Given the description of an element on the screen output the (x, y) to click on. 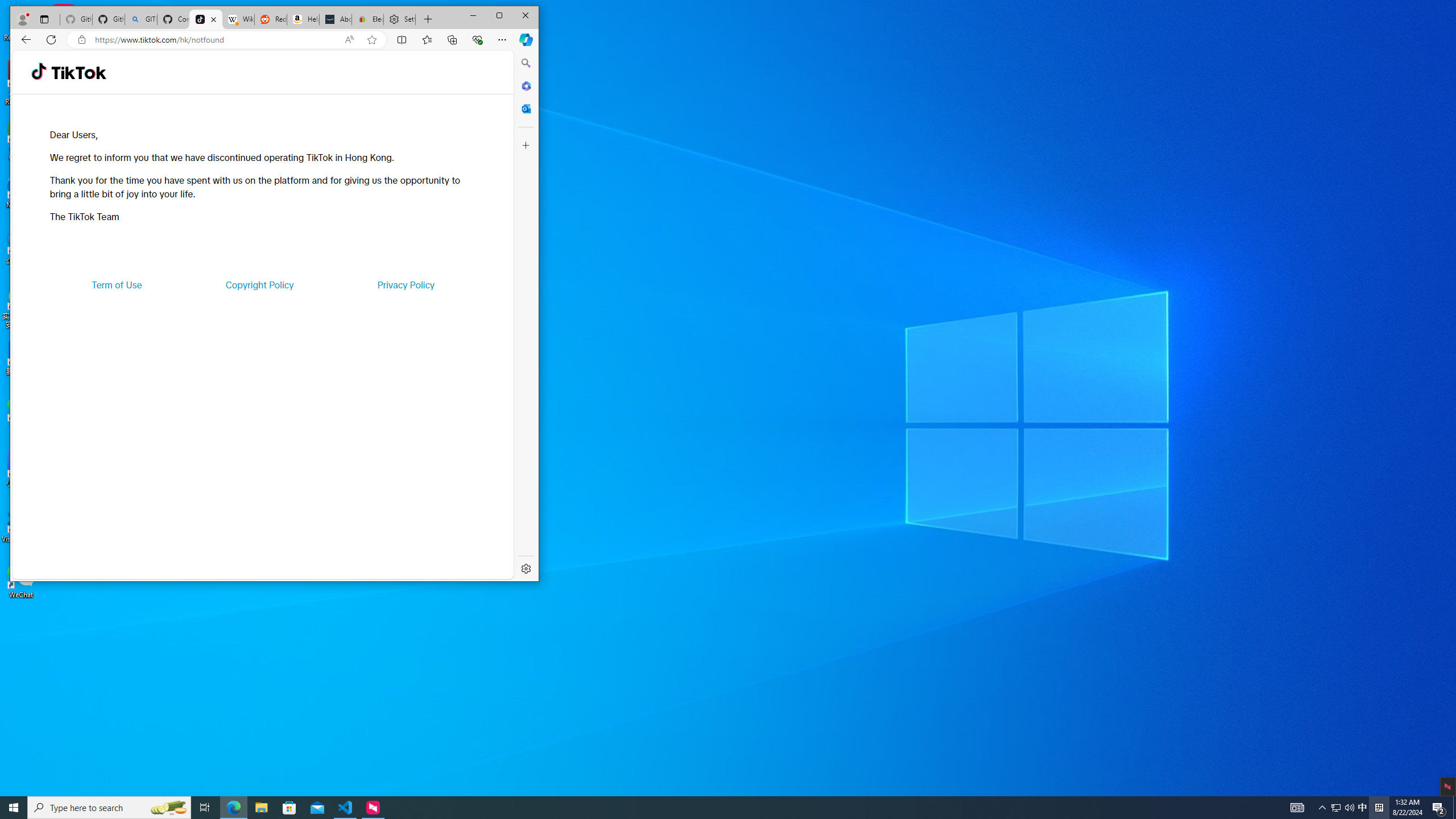
Show desktop (1454, 807)
Help & Contact Us - Amazon Customer Service (303, 19)
Side bar (525, 315)
Electronics, Cars, Fashion, Collectibles & More | eBay (367, 19)
Copyright Policy (259, 284)
Action Center, 2 new notifications (1439, 807)
Running applications (707, 807)
Search highlights icon opens search home window (167, 807)
Privacy Policy (405, 284)
